Given the description of an element on the screen output the (x, y) to click on. 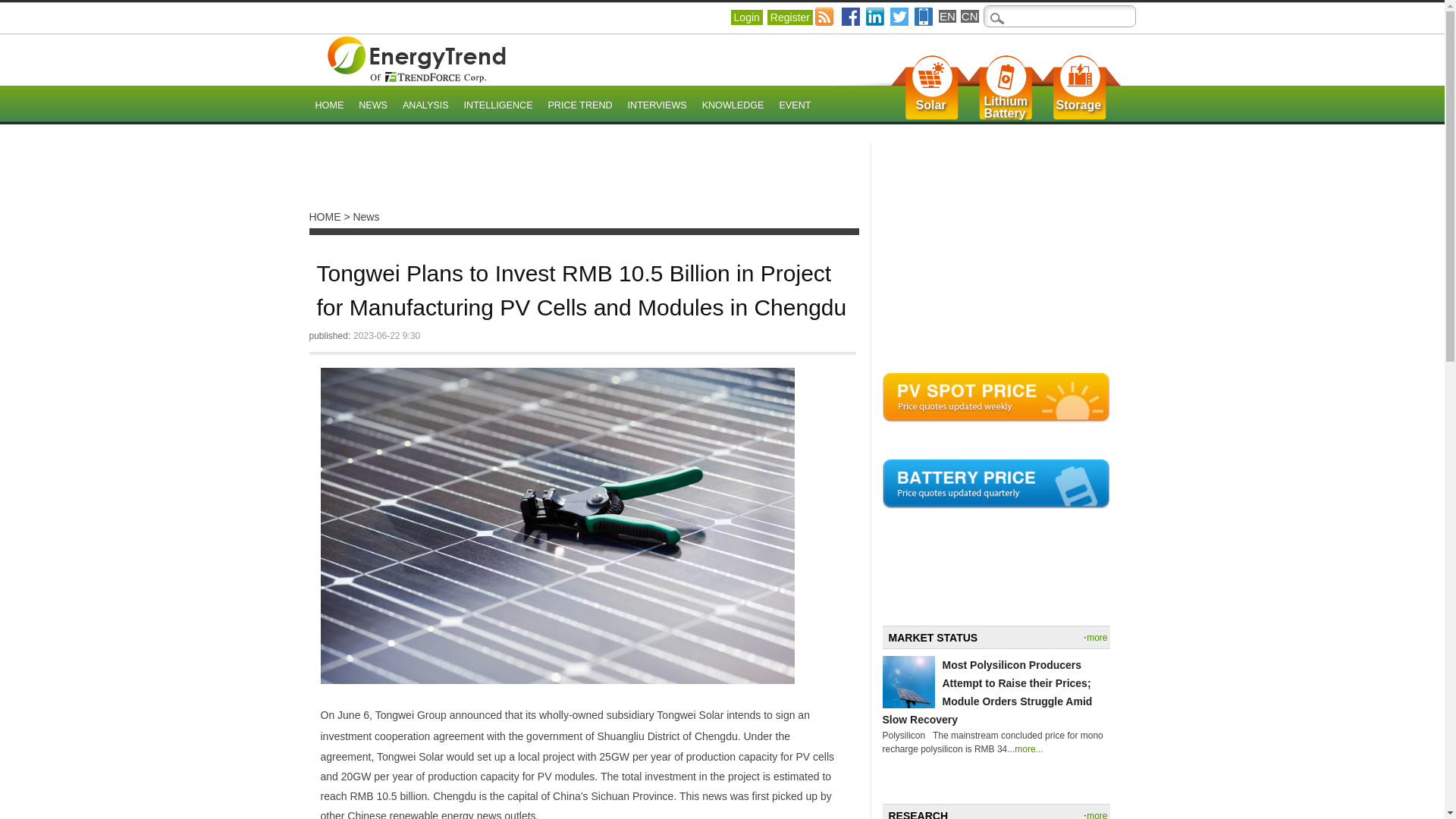
CN (969, 15)
NEWS (372, 105)
Register (789, 17)
linkedin (874, 16)
EN (947, 15)
Storage (1077, 105)
EnergyTrend (415, 59)
ANALYSIS (425, 105)
Solar (930, 105)
facebook (850, 16)
